Given the description of an element on the screen output the (x, y) to click on. 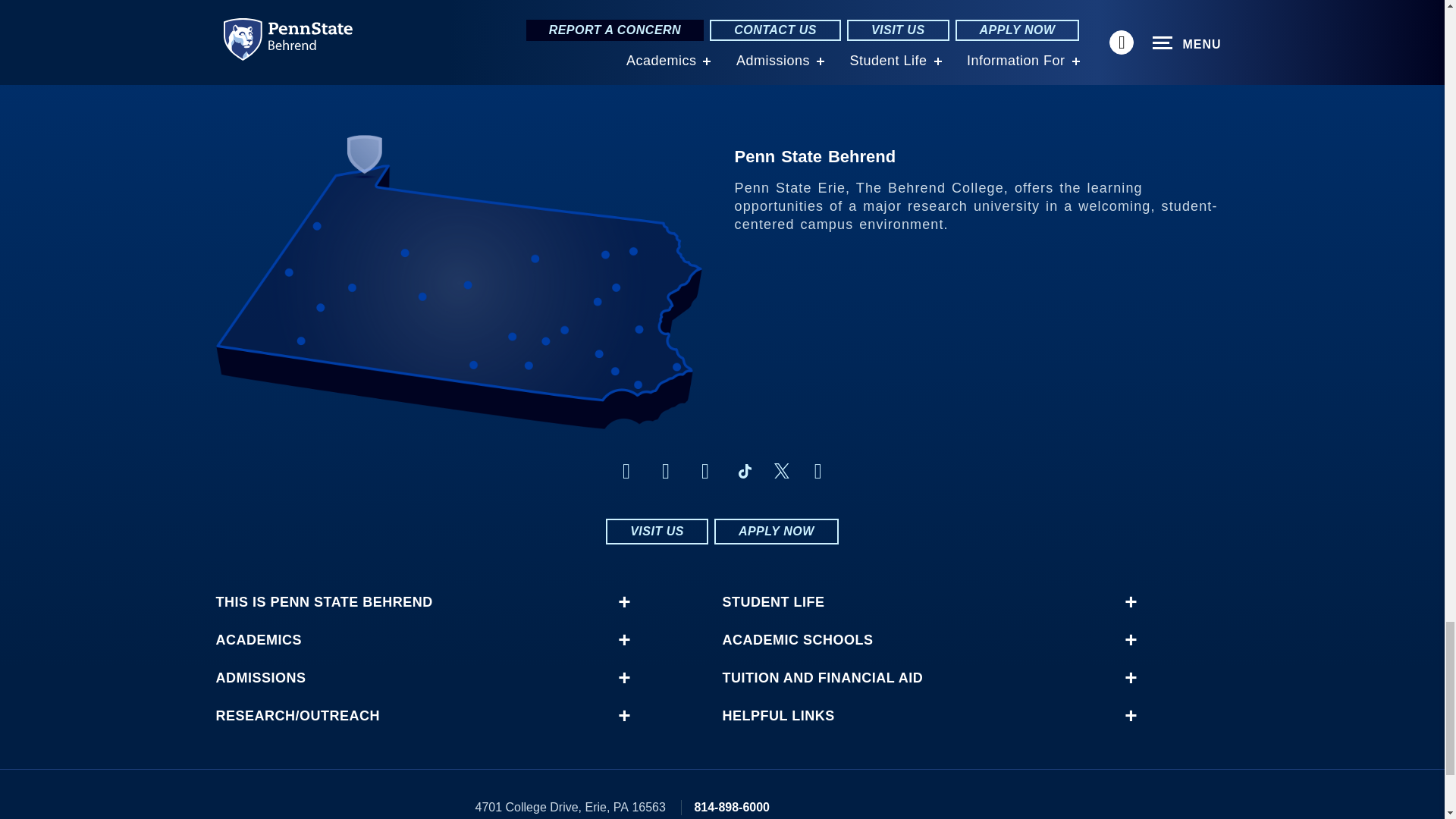
TikTok (744, 471)
YouTube (818, 471)
Instagram (666, 471)
LinkedIn (705, 471)
Facebook (626, 471)
